Given the description of an element on the screen output the (x, y) to click on. 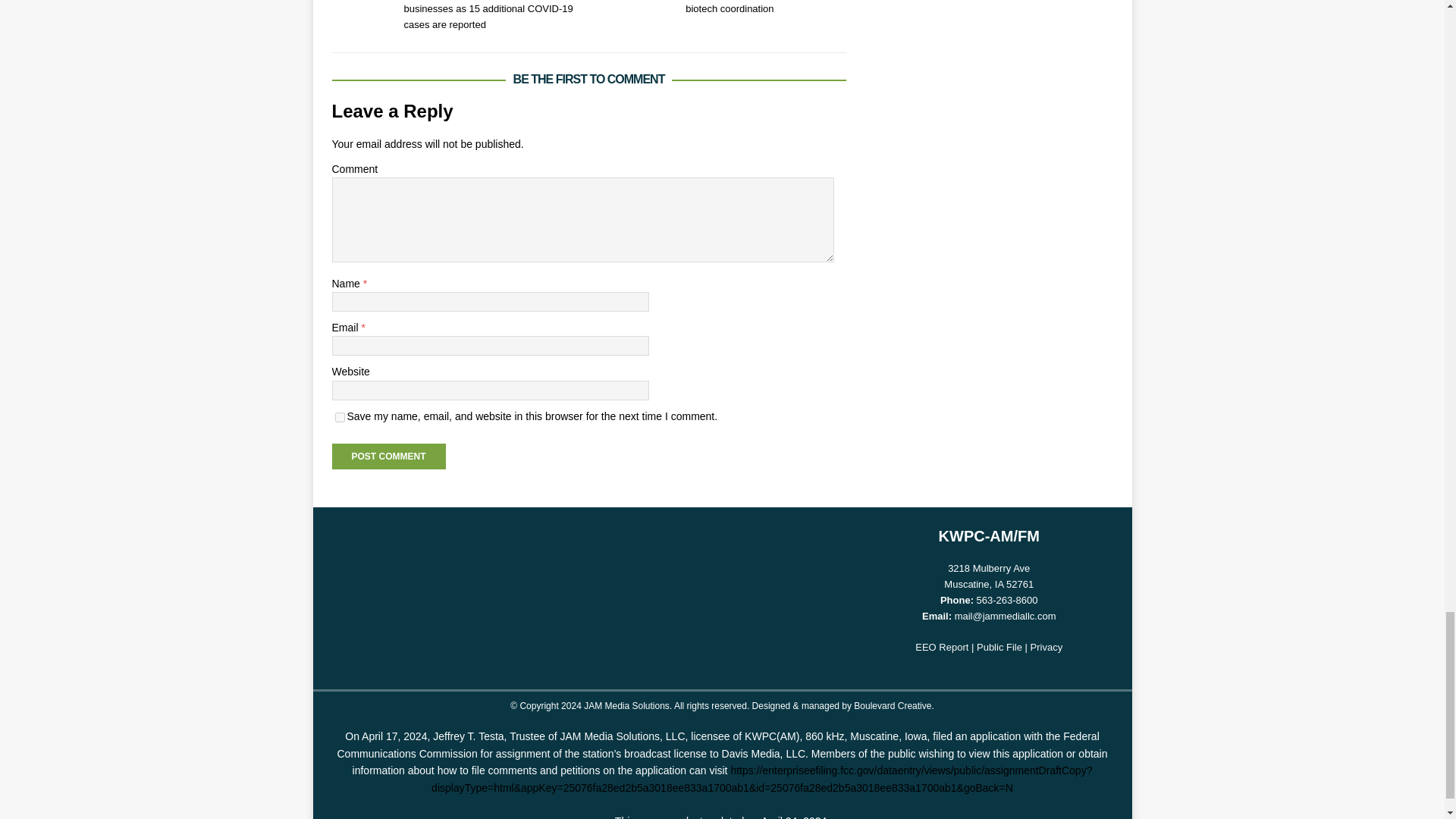
yes (339, 417)
Post Comment (388, 456)
